Given the description of an element on the screen output the (x, y) to click on. 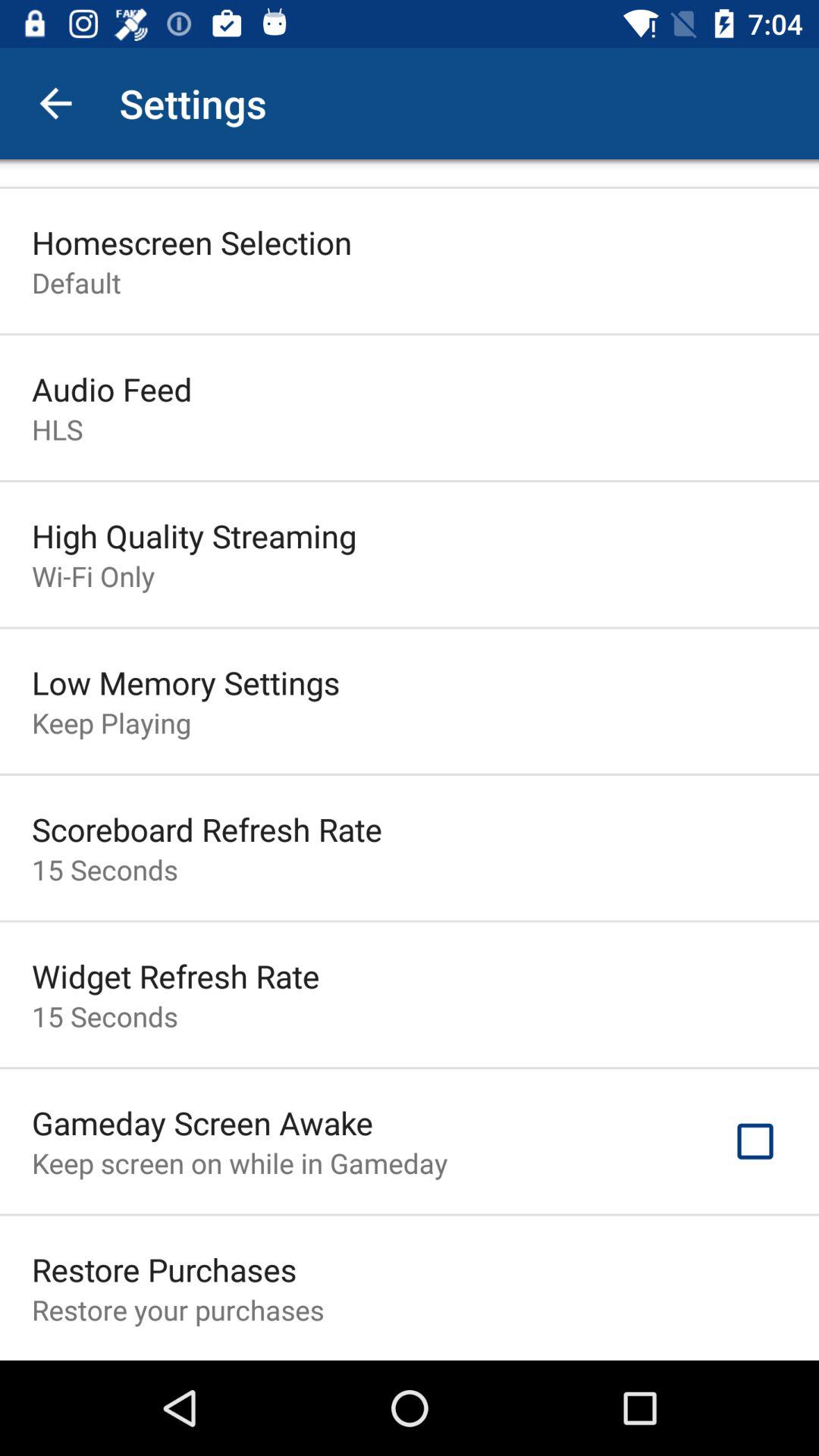
scroll to the wi-fi only icon (92, 575)
